Given the description of an element on the screen output the (x, y) to click on. 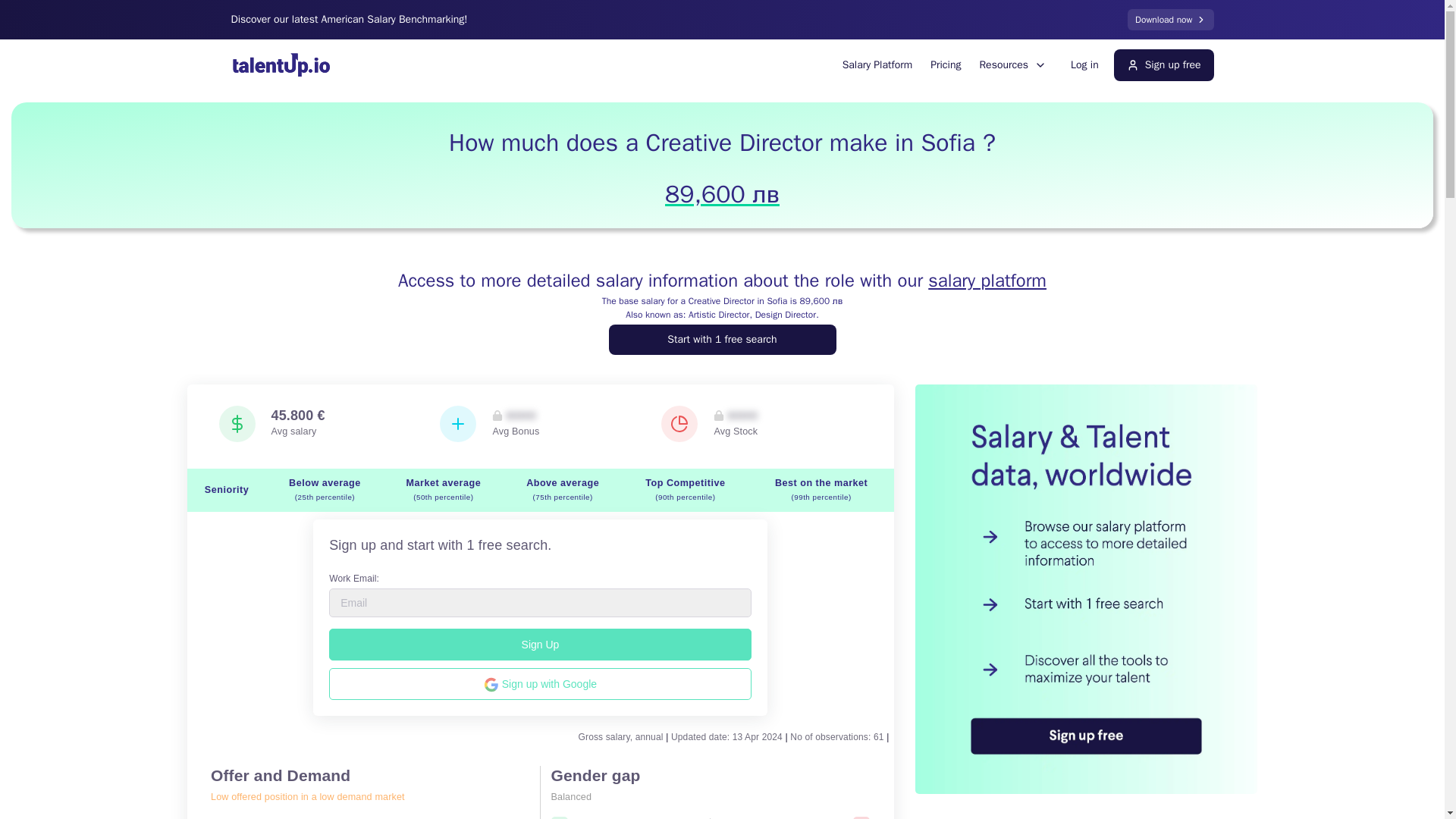
Download now (1169, 19)
Salary Platform (876, 64)
Resources (1012, 64)
salary platform (987, 280)
Log in (782, 64)
Start with 1 free search (1084, 64)
Pricing (721, 339)
Sign up free (945, 64)
